Given the description of an element on the screen output the (x, y) to click on. 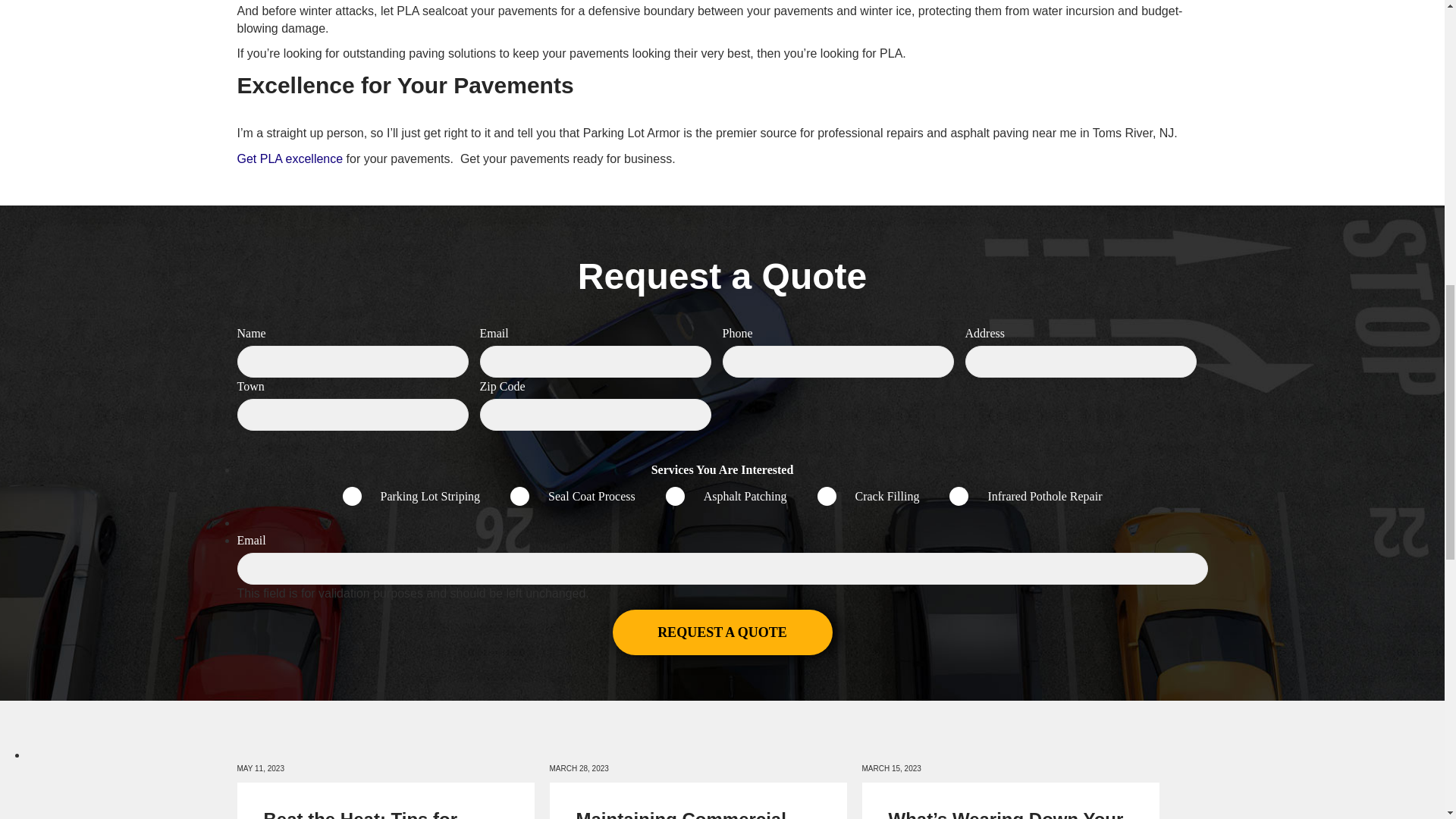
Get PLA excellence (288, 158)
Maintaining Commercial Asphalt to Avoid Repaving (691, 814)
REQUEST A QUOTE (722, 632)
REQUEST A QUOTE (722, 632)
